Given the description of an element on the screen output the (x, y) to click on. 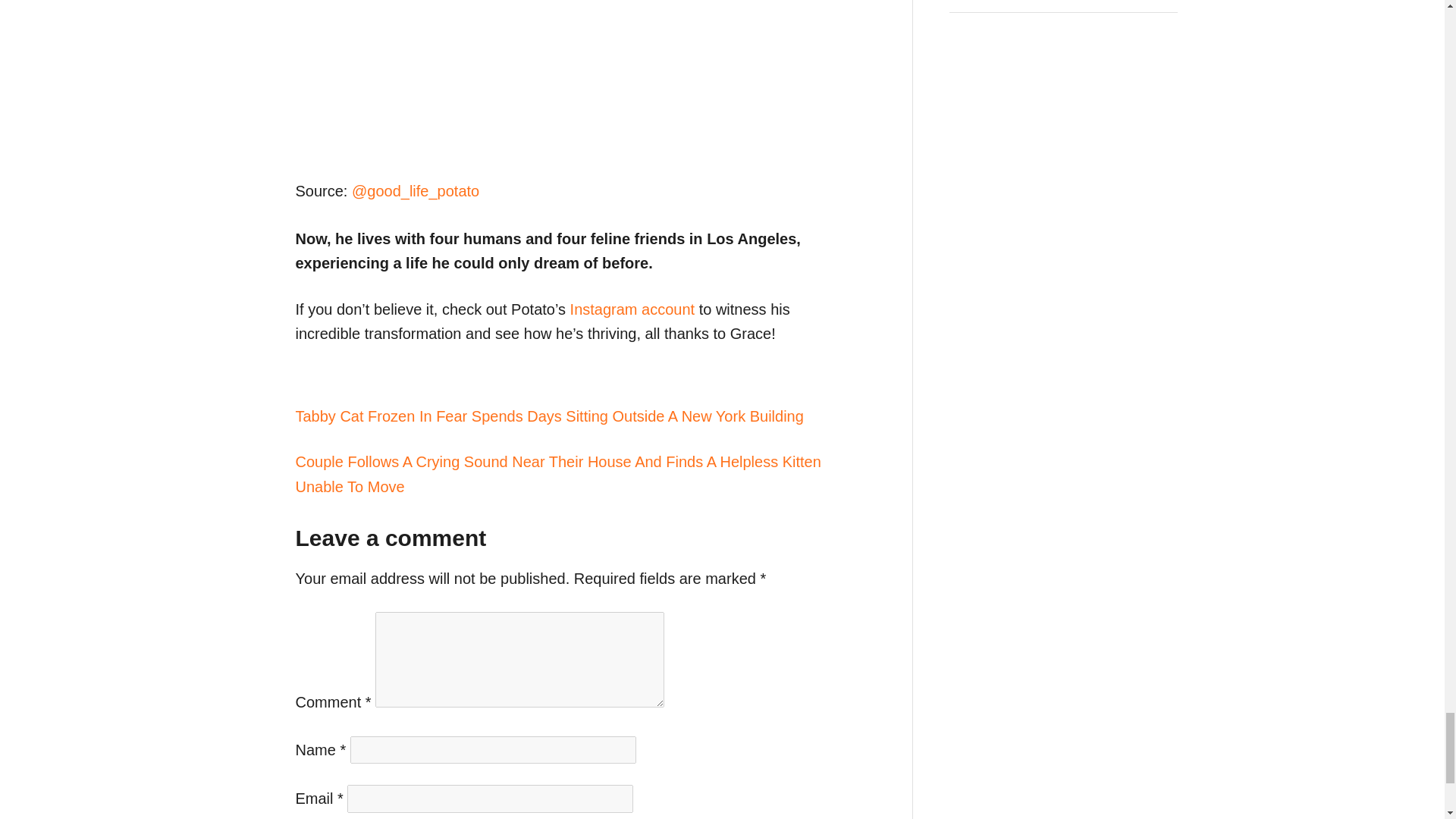
Instagram account (632, 309)
